Given the description of an element on the screen output the (x, y) to click on. 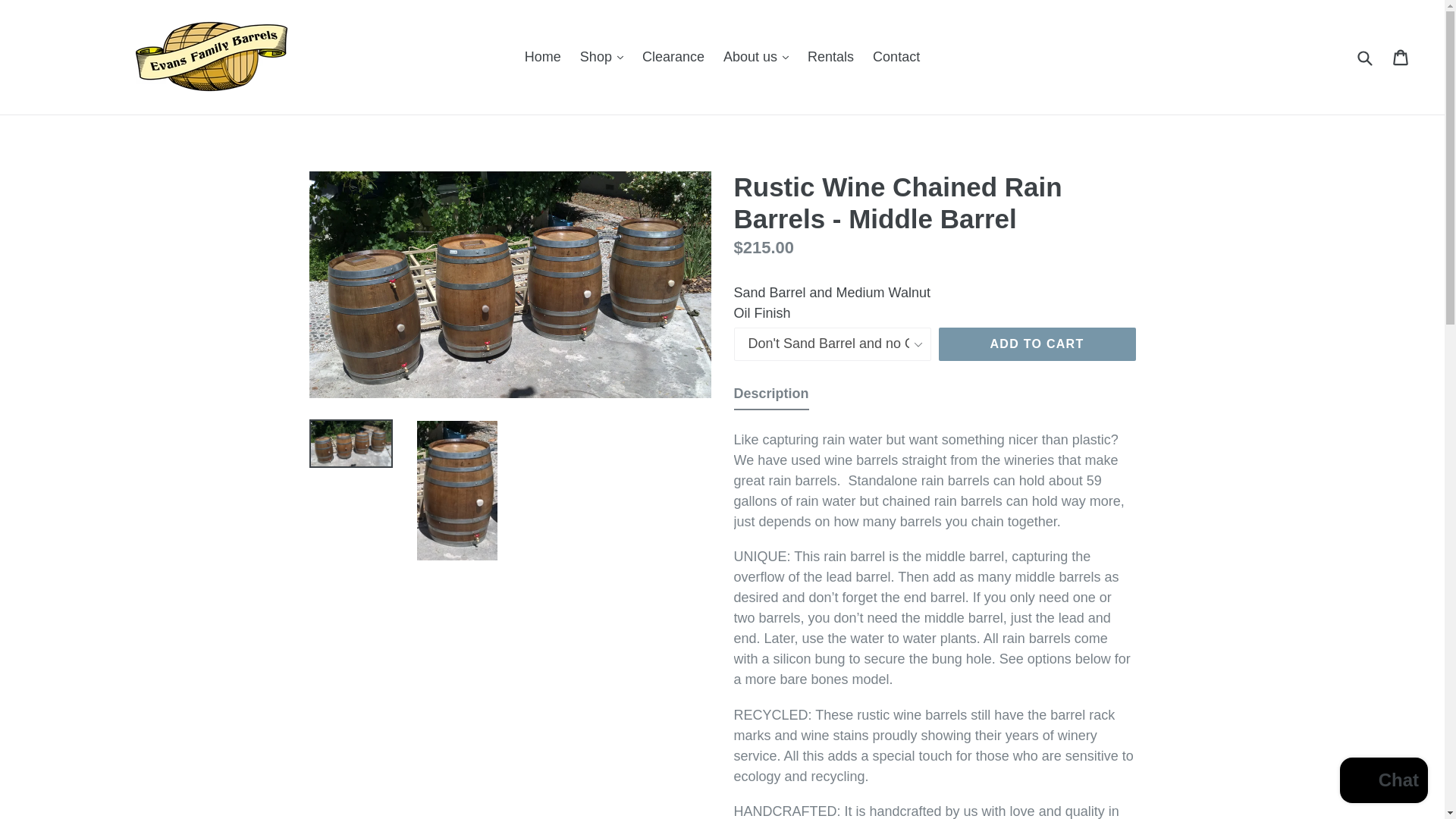
Shopify online store chat (1383, 781)
Home (542, 57)
